Given the description of an element on the screen output the (x, y) to click on. 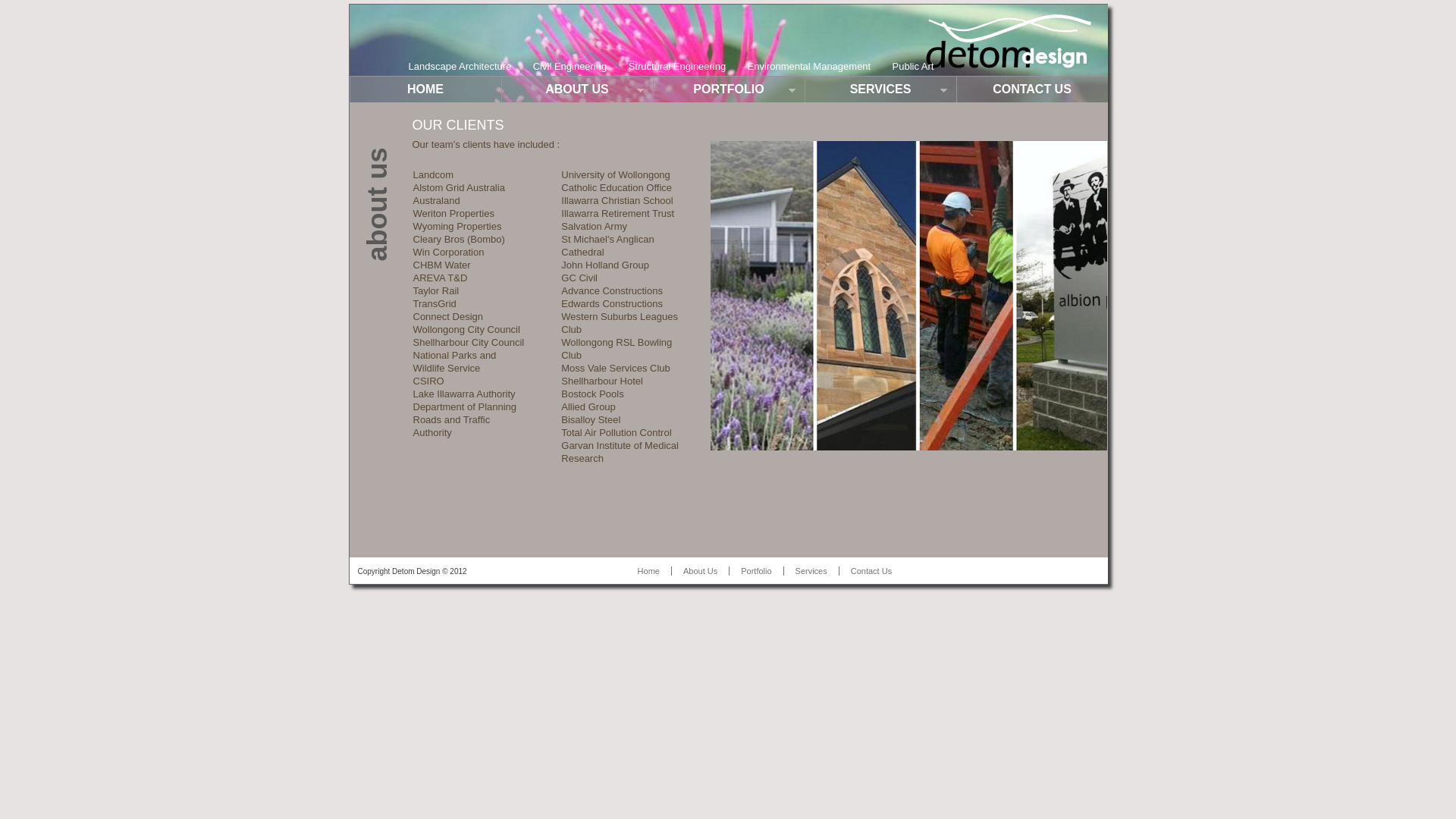
Contact Us Element type: text (870, 570)
HOME Element type: text (424, 88)
About Us Element type: text (699, 570)
Portfolio Element type: text (755, 570)
Home Element type: text (648, 570)
CONTACT US Element type: text (1031, 88)
Services Element type: text (810, 570)
